Given the description of an element on the screen output the (x, y) to click on. 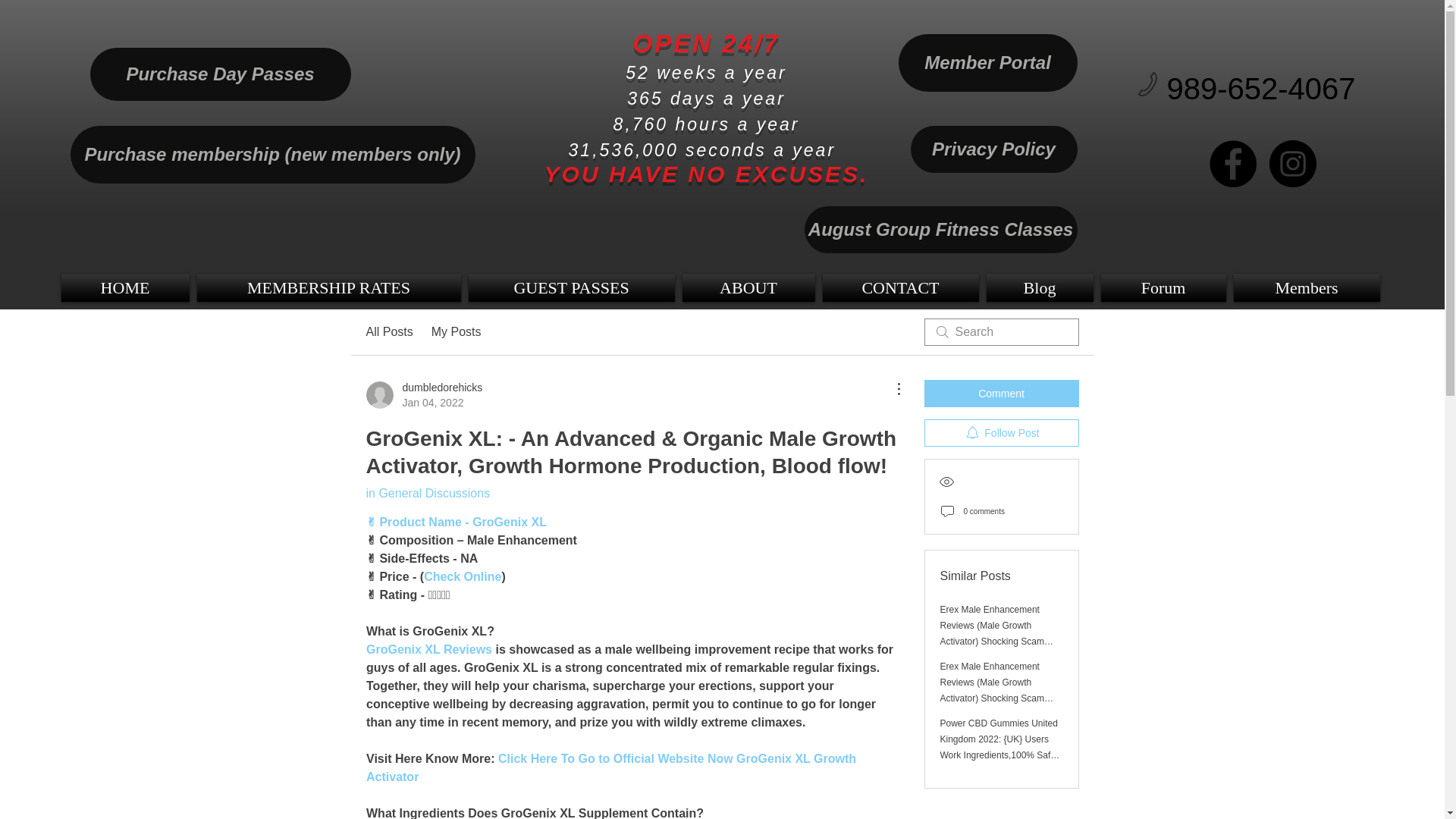
August Group Fitness Classes (940, 229)
My Posts (455, 331)
GroGenix XL Reviews (428, 649)
All Posts (388, 331)
Member Portal (987, 62)
Privacy Policy (993, 149)
HOME (126, 287)
GroGenix XL (509, 521)
in General Discussions (427, 492)
ABOUT (748, 287)
GUEST PASSES (571, 287)
Check Online (423, 395)
CONTACT (461, 576)
